Given the description of an element on the screen output the (x, y) to click on. 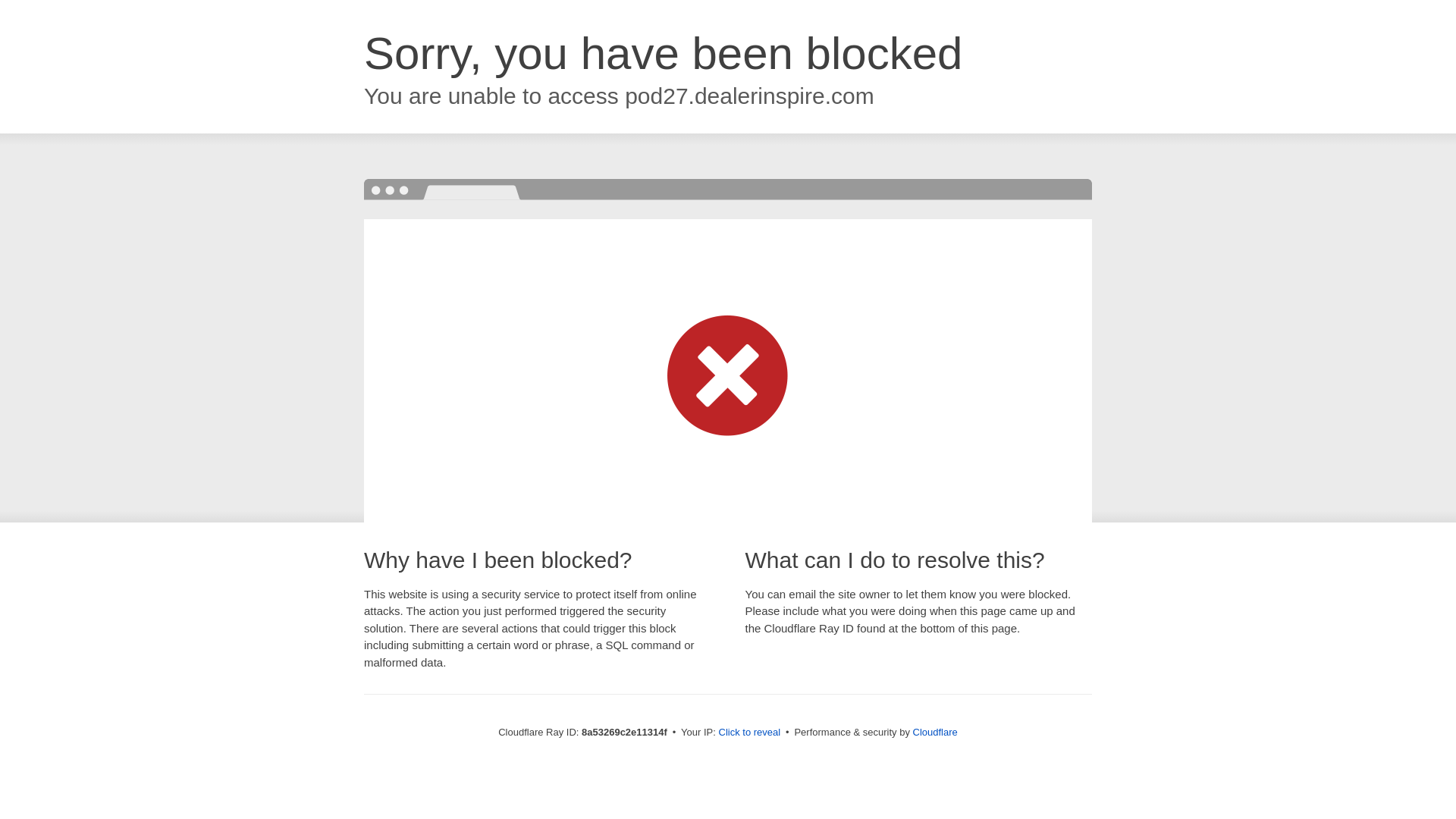
Click to reveal (749, 732)
Cloudflare (935, 731)
